Given the description of an element on the screen output the (x, y) to click on. 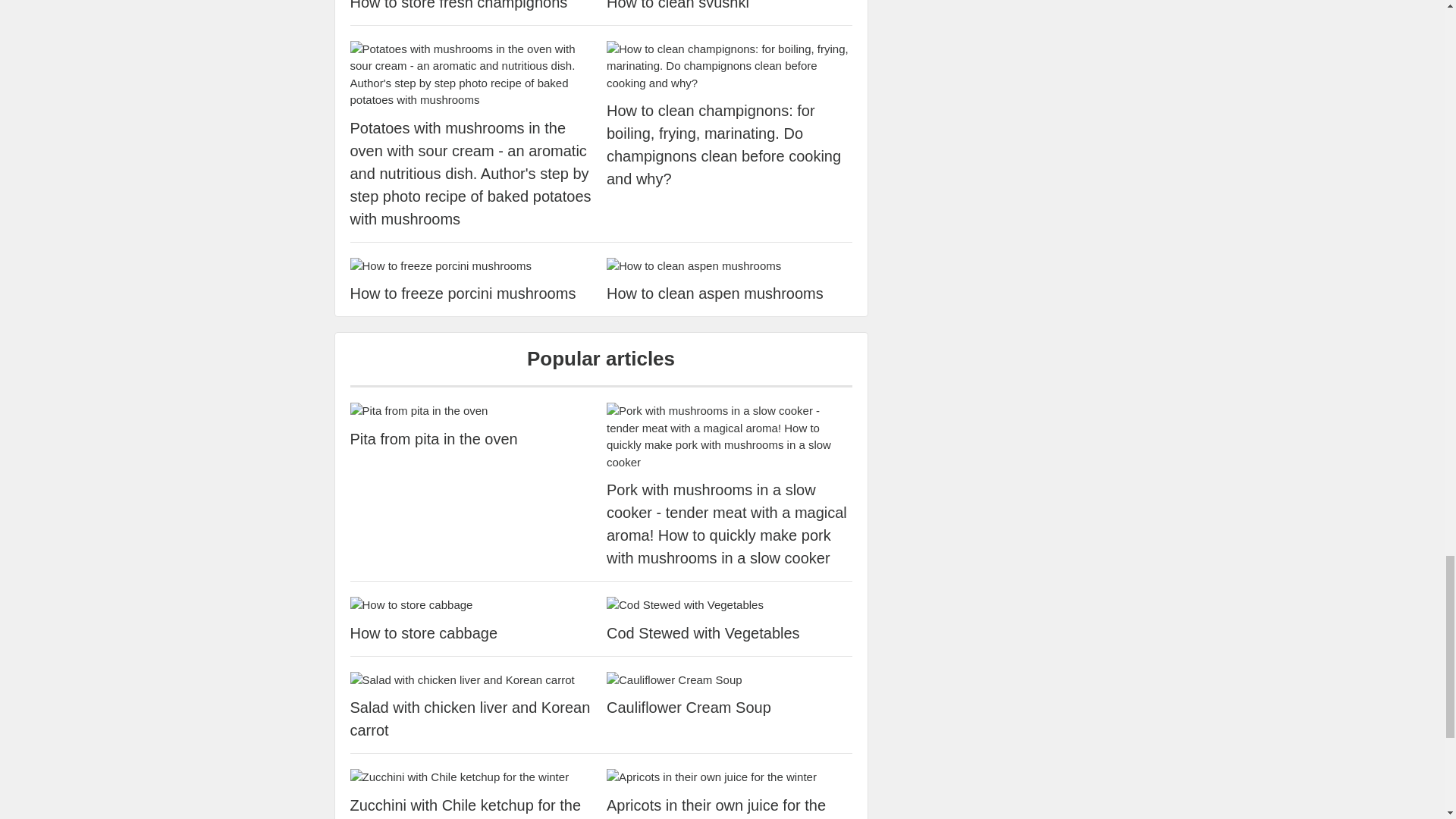
Salad with chicken liver and Korean carrot (472, 719)
How to clean aspen mushrooms (729, 266)
How to freeze porcini mushrooms (472, 292)
How to clean svushki (729, 6)
Cod Stewed with Vegetables (729, 632)
Pita from pita in the oven (472, 411)
How to store fresh champignons (472, 6)
Salad with chicken liver and Korean carrot (472, 680)
